Given the description of an element on the screen output the (x, y) to click on. 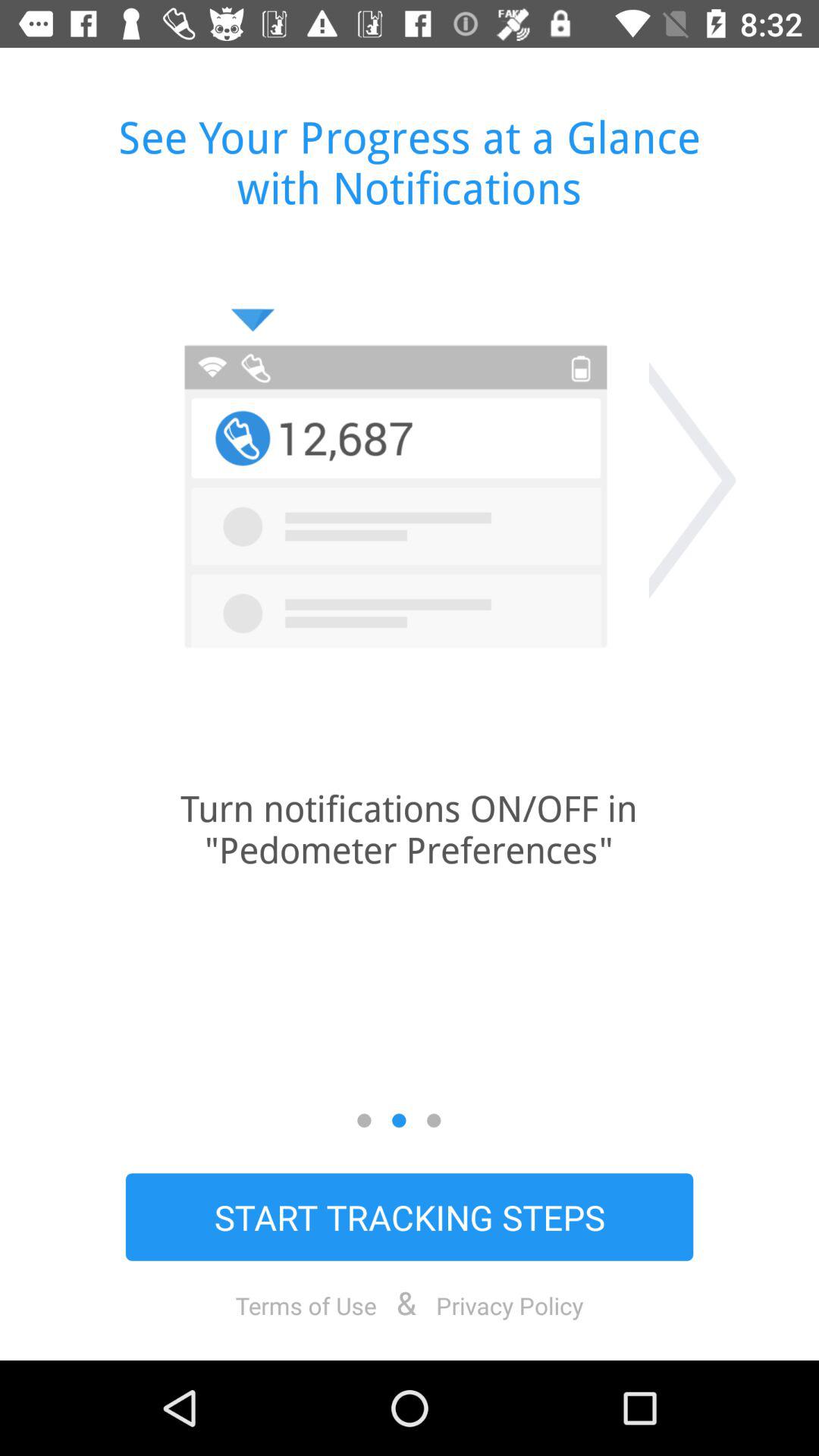
select the terms of use item (305, 1305)
